Given the description of an element on the screen output the (x, y) to click on. 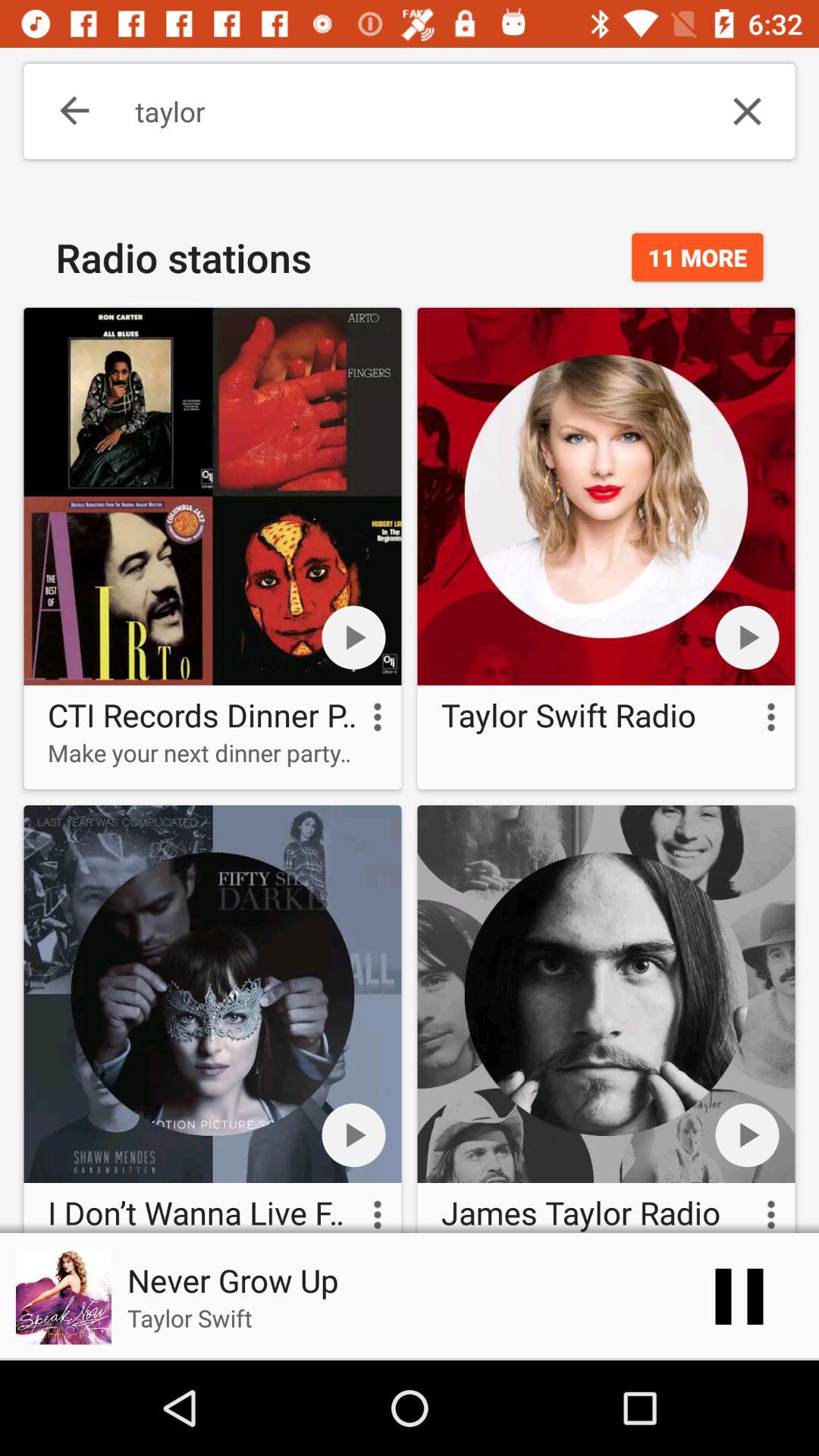
swipe to 11 more icon (697, 257)
